Given the description of an element on the screen output the (x, y) to click on. 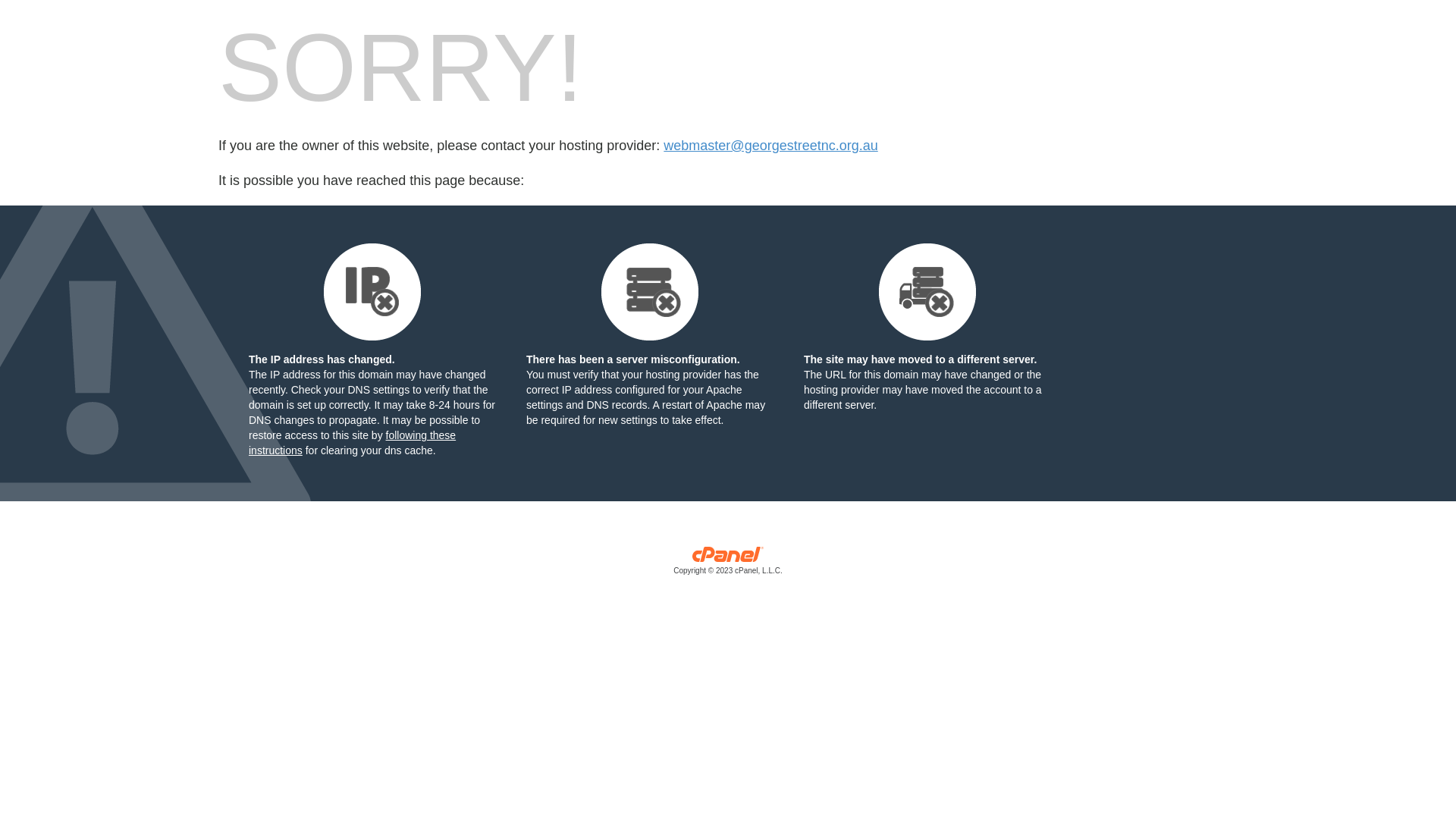
webmaster@georgestreetnc.org.au Element type: text (770, 145)
following these instructions Element type: text (351, 442)
